Given the description of an element on the screen output the (x, y) to click on. 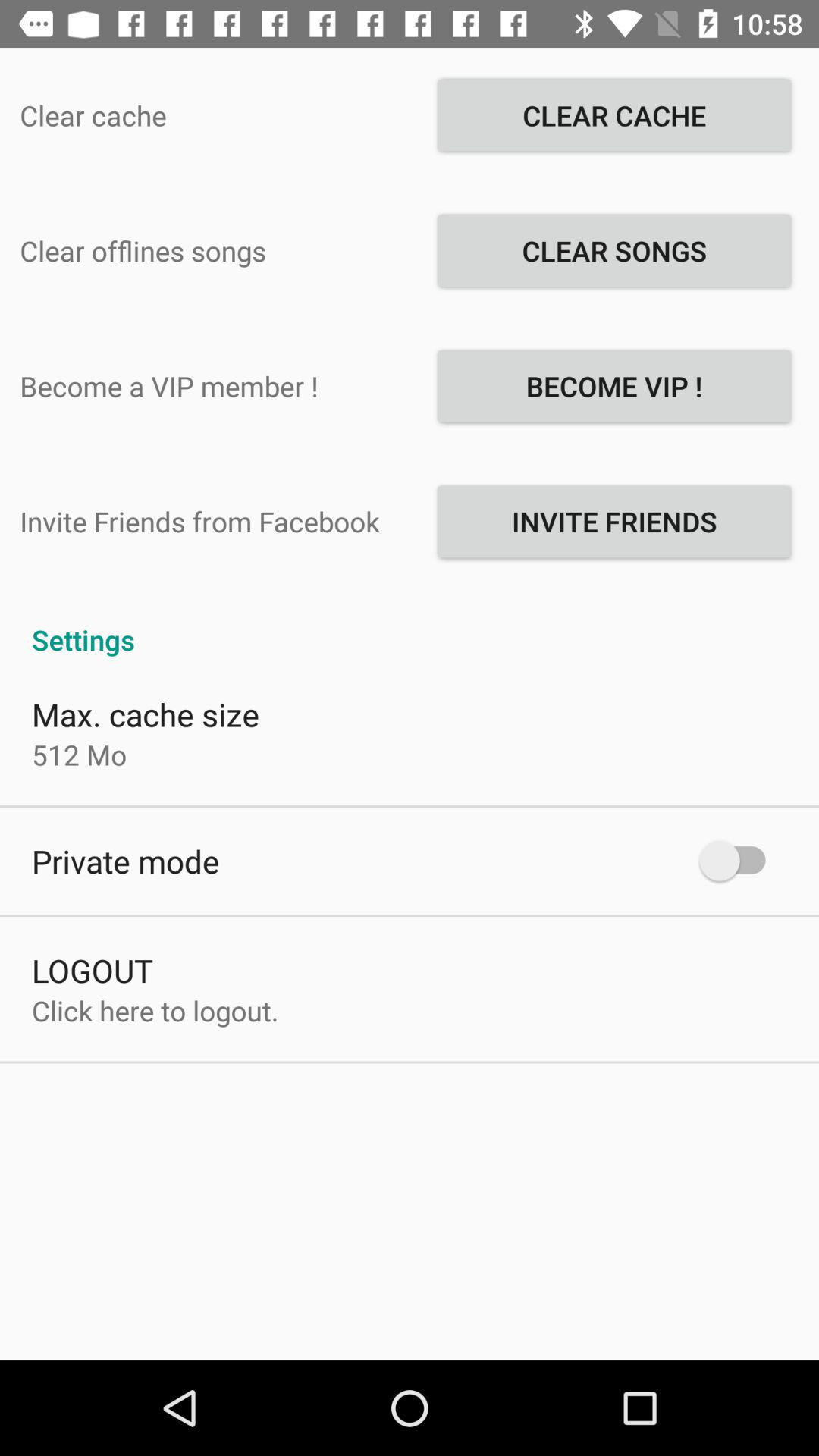
launch the app to the right of the private mode (739, 860)
